Given the description of an element on the screen output the (x, y) to click on. 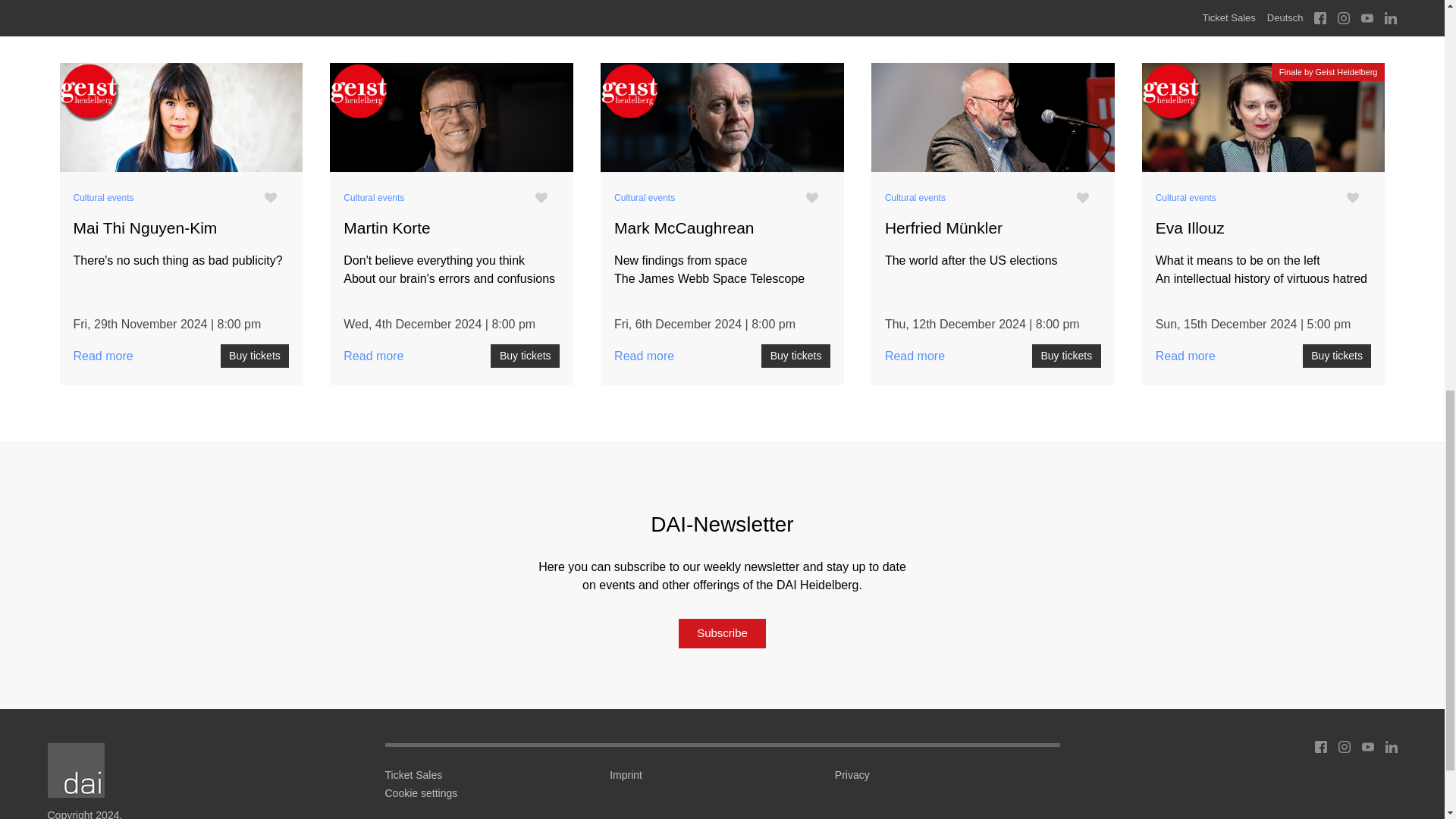
Read more (180, 120)
Read more (992, 120)
Read more (451, 120)
Read more (721, 120)
Read more (1263, 120)
